Given the description of an element on the screen output the (x, y) to click on. 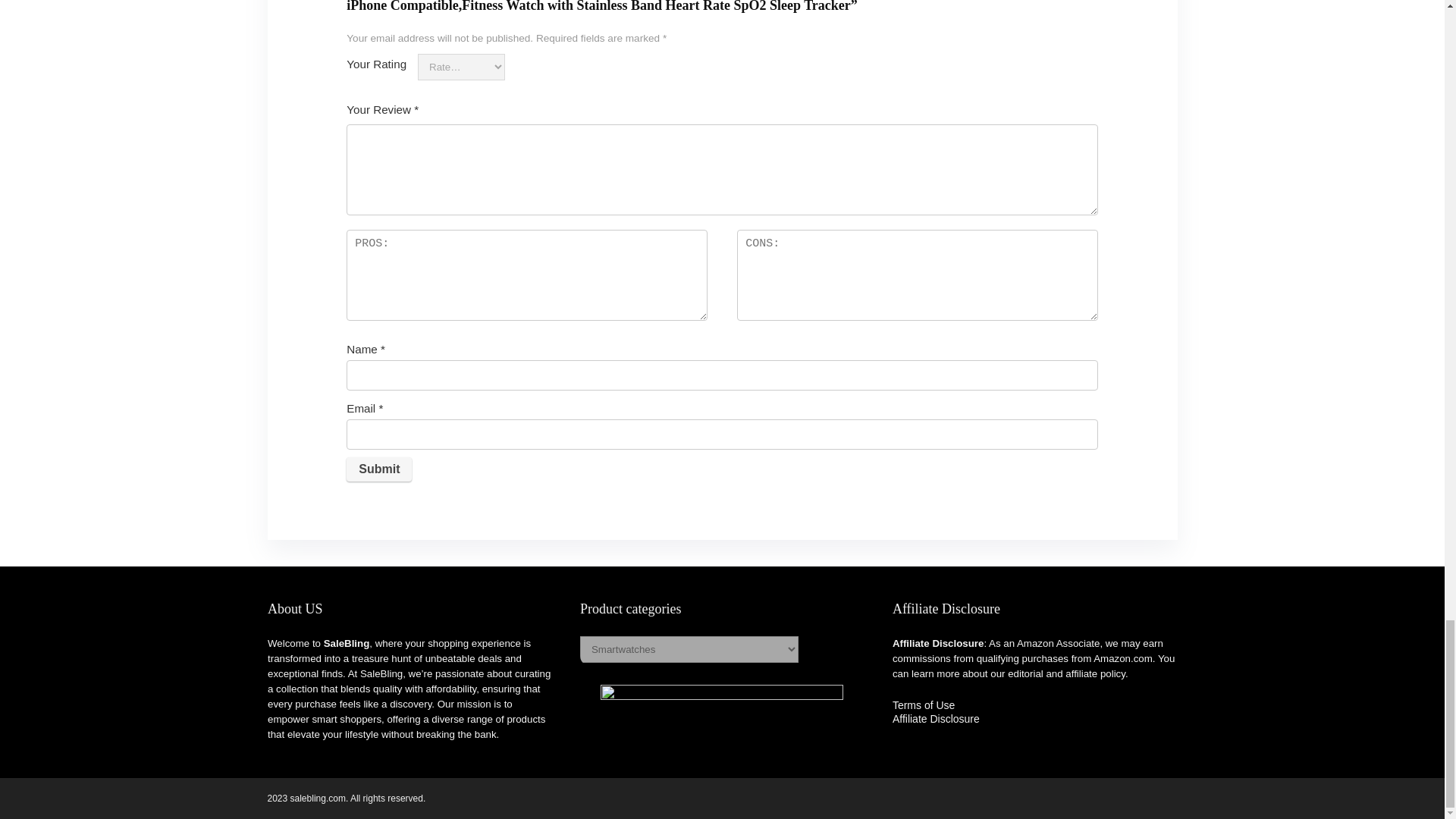
Submit (379, 469)
